Given the description of an element on the screen output the (x, y) to click on. 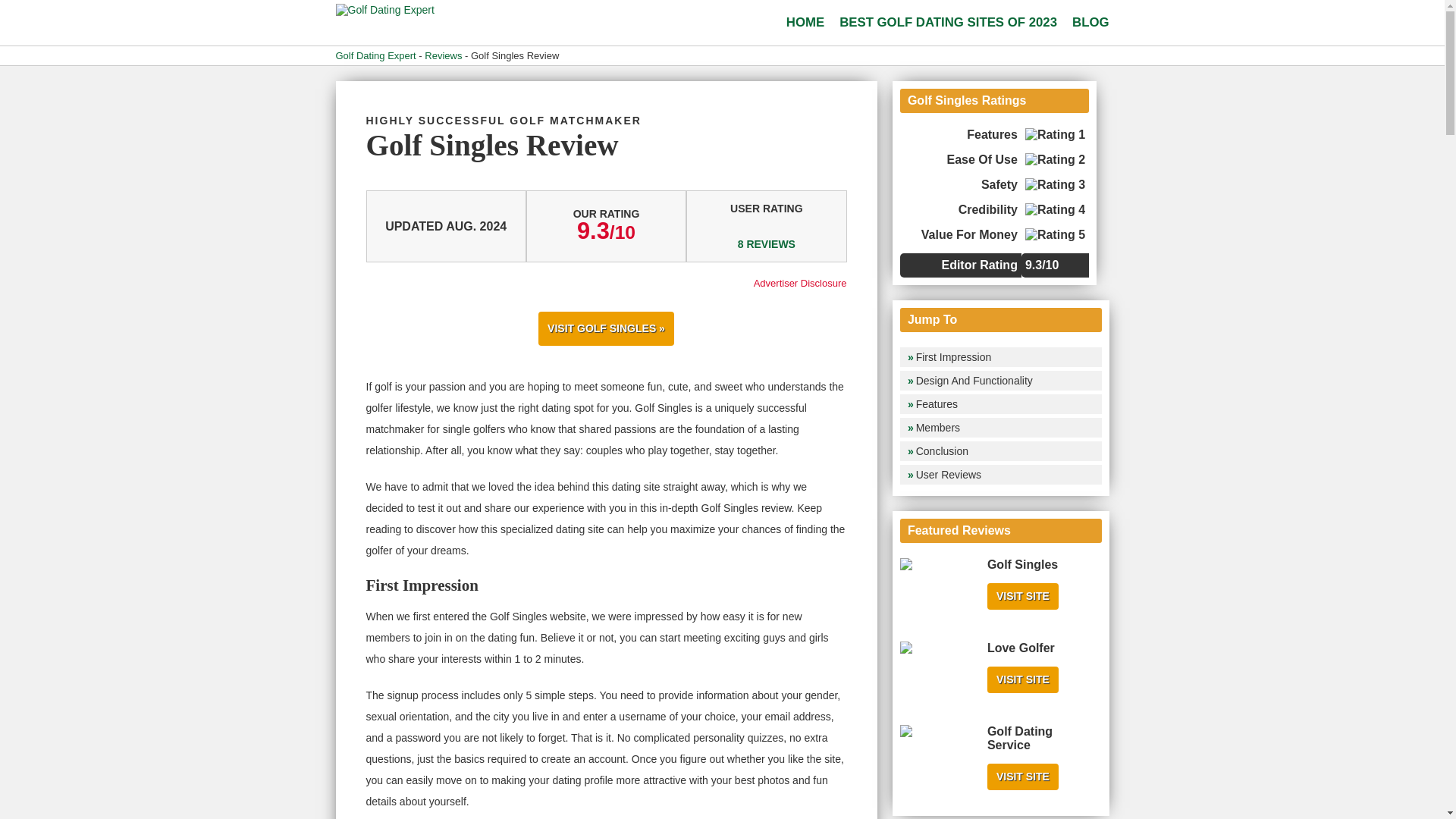
Go to Golf Dating Expert. (374, 55)
HOME (805, 22)
Go to Reviews. (443, 55)
Golf Dating Expert (383, 9)
BEST GOLF DATING SITES OF 2023 (948, 22)
Reviews (443, 55)
BLOG (1089, 22)
8 REVIEWS (766, 244)
Golf Singles (1022, 564)
HIGHLY SUCCESSFUL GOLF MATCHMAKER (502, 120)
